Given the description of an element on the screen output the (x, y) to click on. 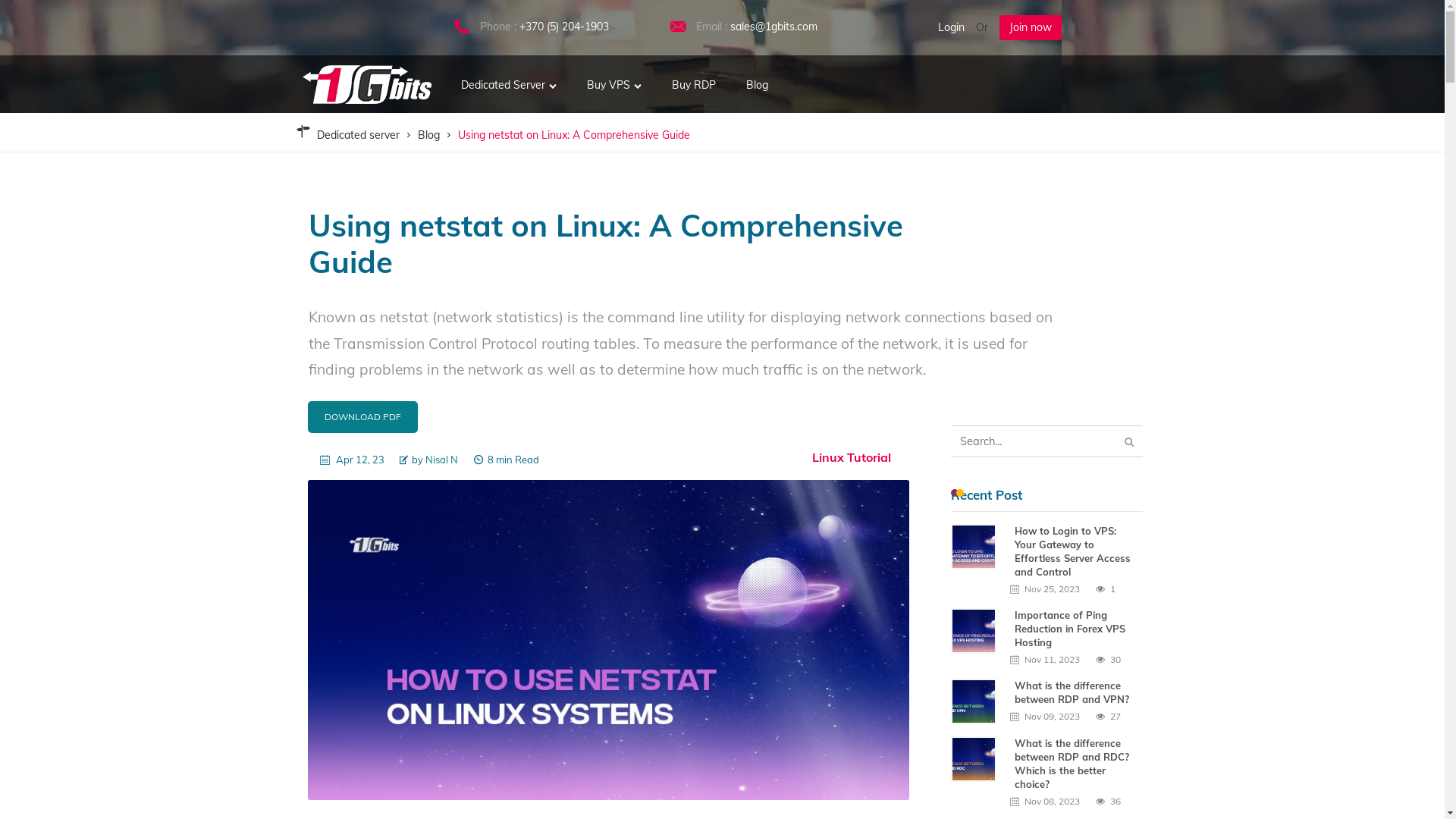
Nisal N Element type: text (441, 459)
Dedicated Server Element type: text (508, 82)
Join now Element type: text (1030, 27)
DOWNLOAD PDF Element type: text (362, 417)
Importance of Ping Reduction in Forex VPS Hosting Element type: hover (979, 630)
Buy RDP Element type: text (693, 82)
Dedicated Server Hosting Element type: hover (365, 82)
What is the difference between RDP and VPN? Element type: text (1075, 692)
Blog Element type: text (757, 82)
Importance of Ping Reduction in Forex VPS Hosting Element type: text (1075, 628)
Dedicated server Element type: text (357, 134)
What is the difference between RDP and VPN? Element type: hover (979, 701)
Blog Element type: text (428, 134)
Login Element type: text (950, 27)
Linux Tutorial Element type: text (850, 456)
Buy VPS Element type: text (613, 82)
